Given the description of an element on the screen output the (x, y) to click on. 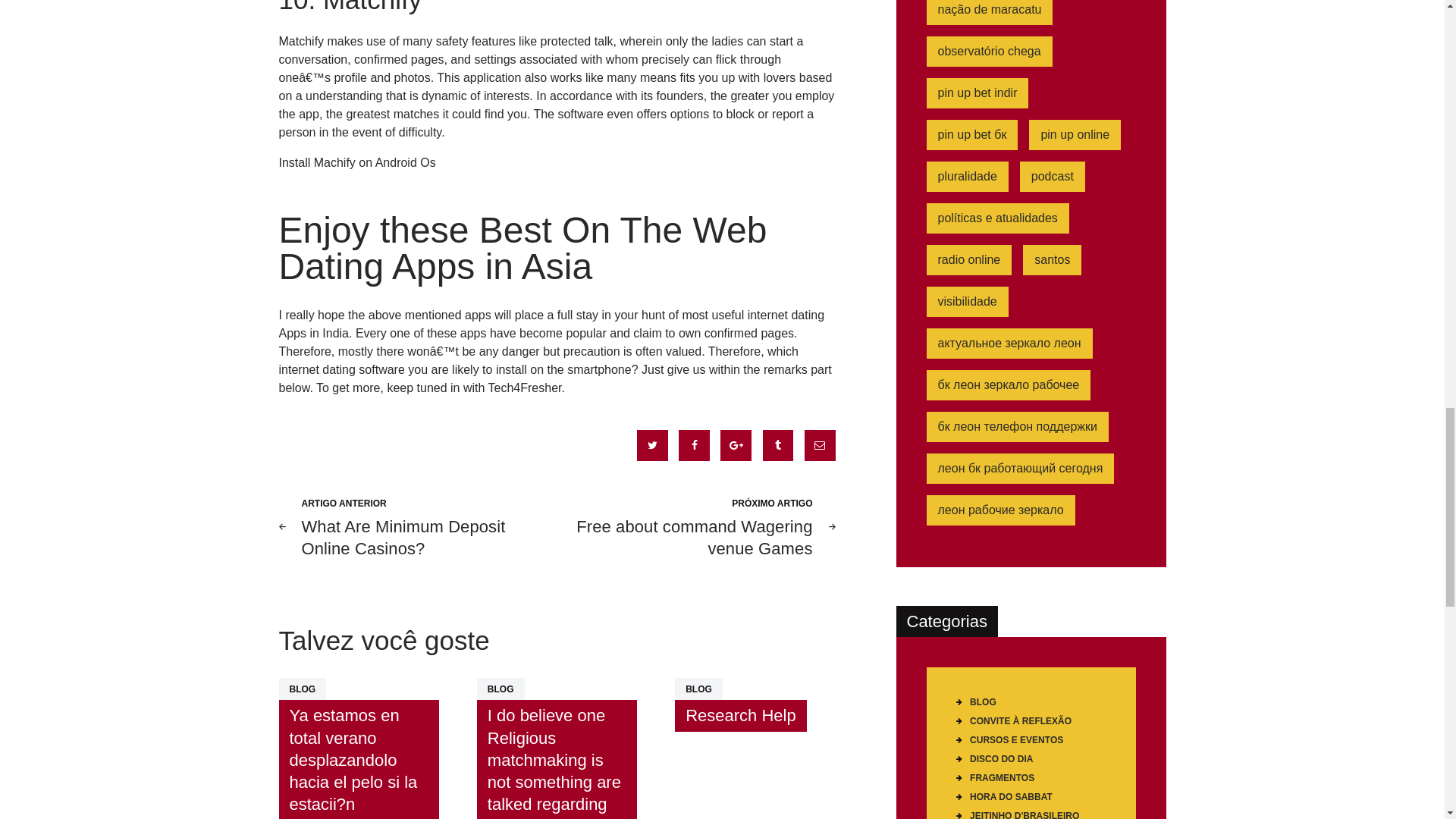
BLOG (500, 689)
BLOG (412, 526)
Research Help (698, 689)
View all posts in Blog (740, 715)
BLOG (698, 689)
View all posts in Blog (302, 689)
View all posts in Blog (500, 689)
